Given the description of an element on the screen output the (x, y) to click on. 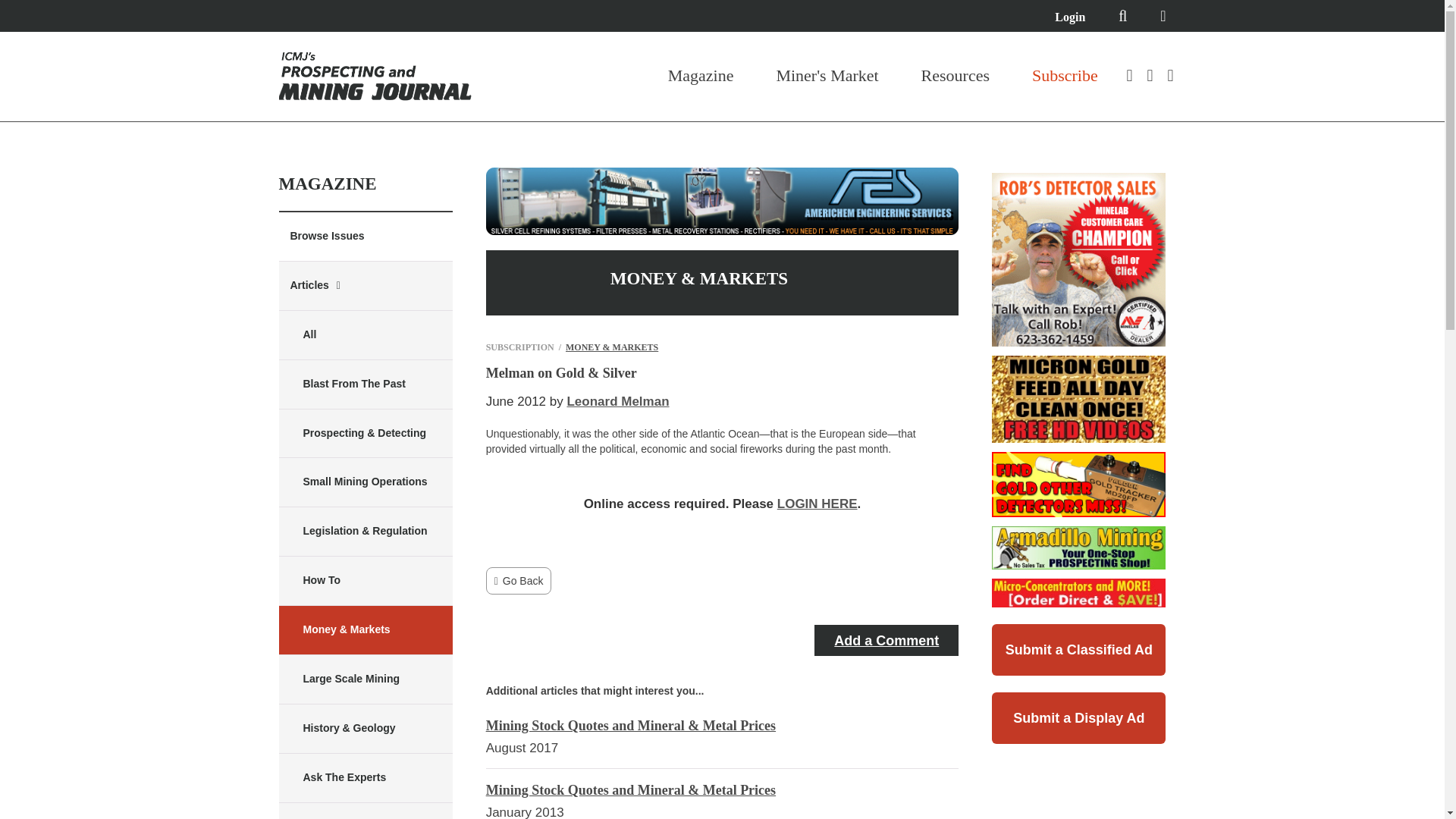
Magazine (700, 75)
Let us help you recover valuable metals. 888-437-1187 (722, 201)
The BEST Bundle Package and FREE Field Instruction! (1078, 259)
Resources (955, 75)
The most sensitive gold probe available! (1078, 484)
Login (1069, 16)
Miner's Market (826, 75)
